Given the description of an element on the screen output the (x, y) to click on. 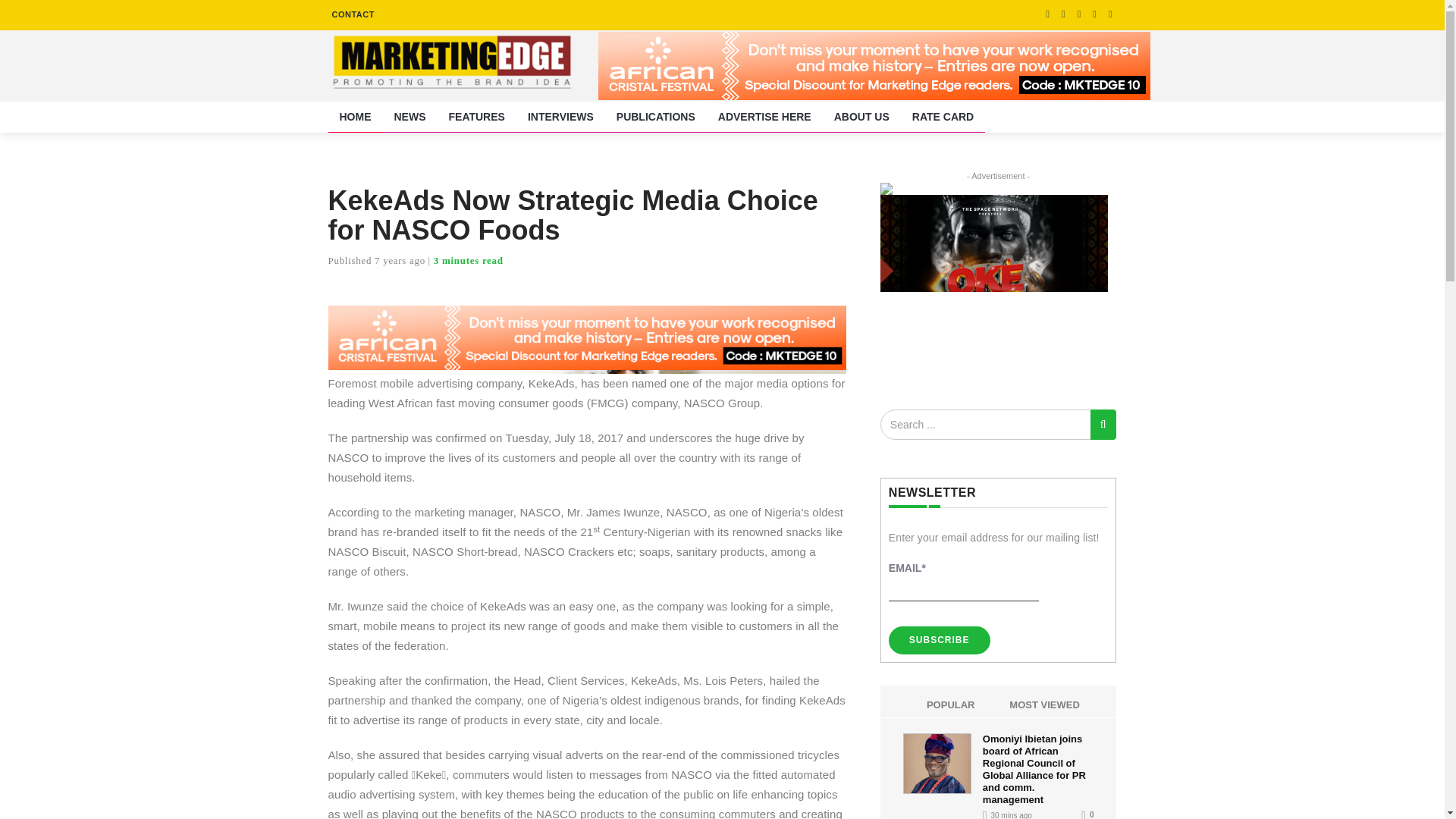
ABOUT US (861, 116)
PUBLICATIONS (655, 116)
FEATURES (475, 116)
RATE CARD (943, 116)
HOME (354, 116)
CONTACT (352, 14)
NEWS (408, 116)
INTERVIEWS (560, 116)
Subscribe (939, 640)
ADVERTISE HERE (764, 116)
